Given the description of an element on the screen output the (x, y) to click on. 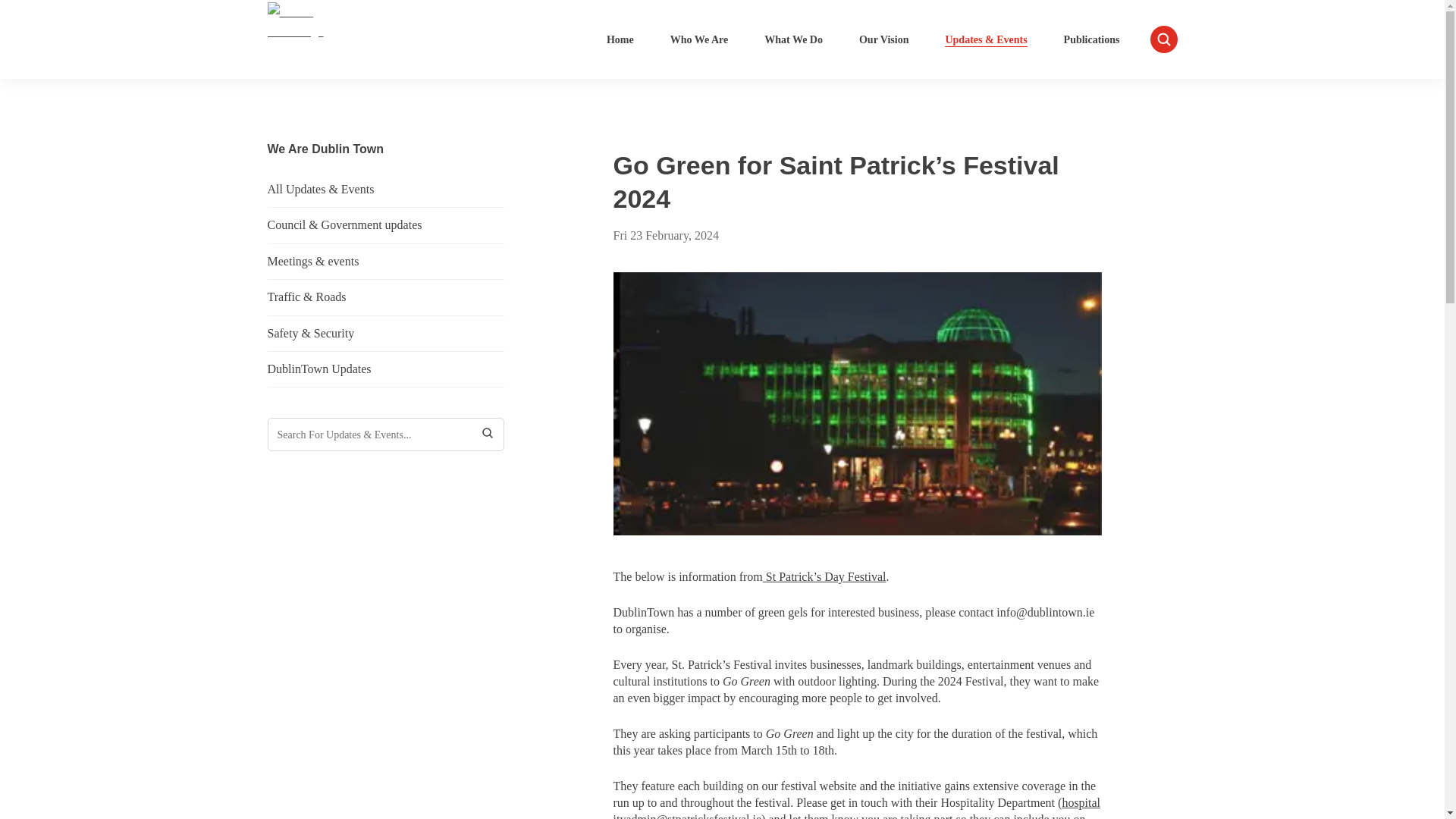
DublinTown Updates (384, 369)
Our Vision (883, 39)
Publications (1091, 39)
Home (620, 39)
What We Do (793, 39)
Who We Are (699, 39)
